Given the description of an element on the screen output the (x, y) to click on. 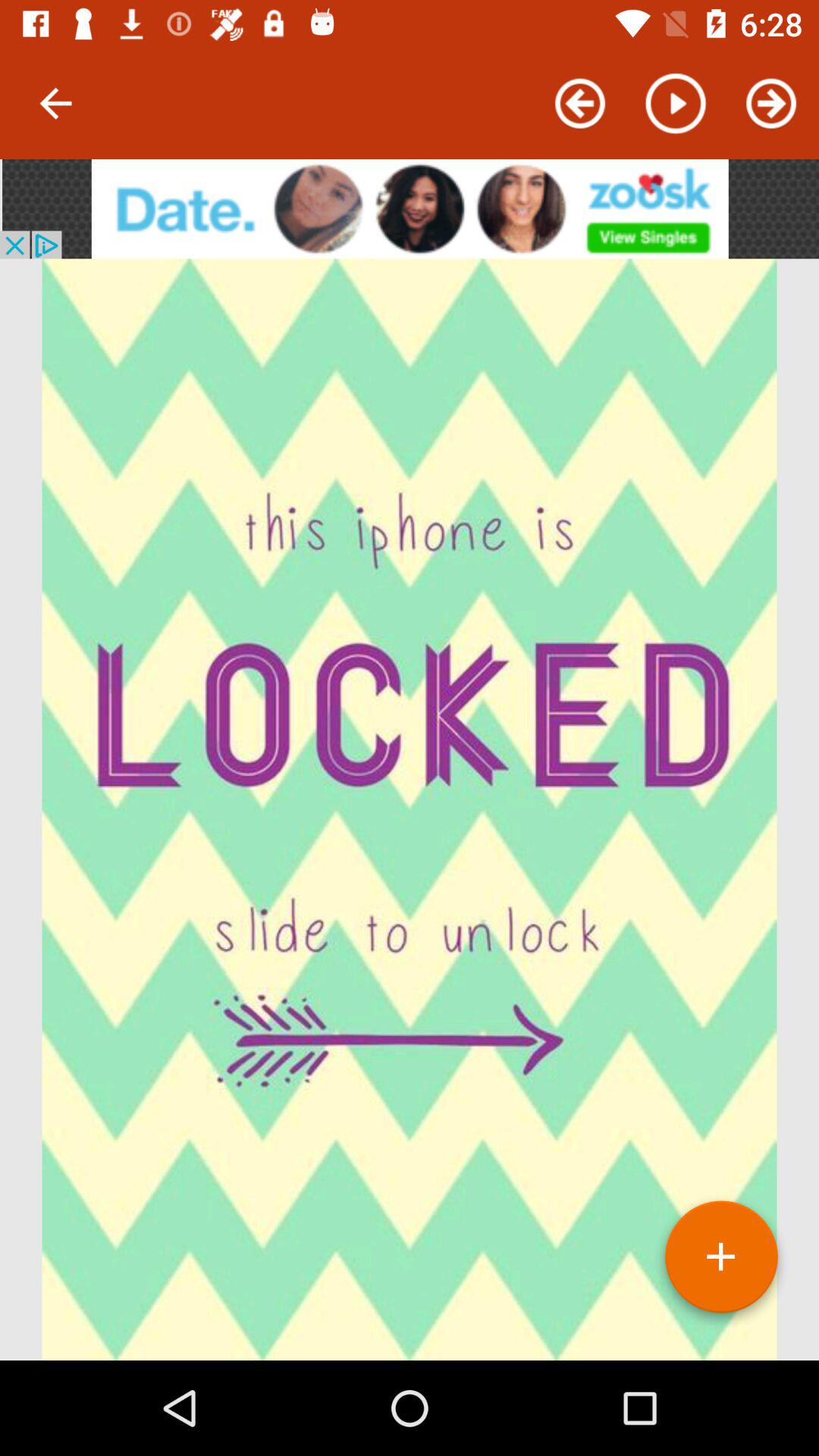
add page (721, 1262)
